Given the description of an element on the screen output the (x, y) to click on. 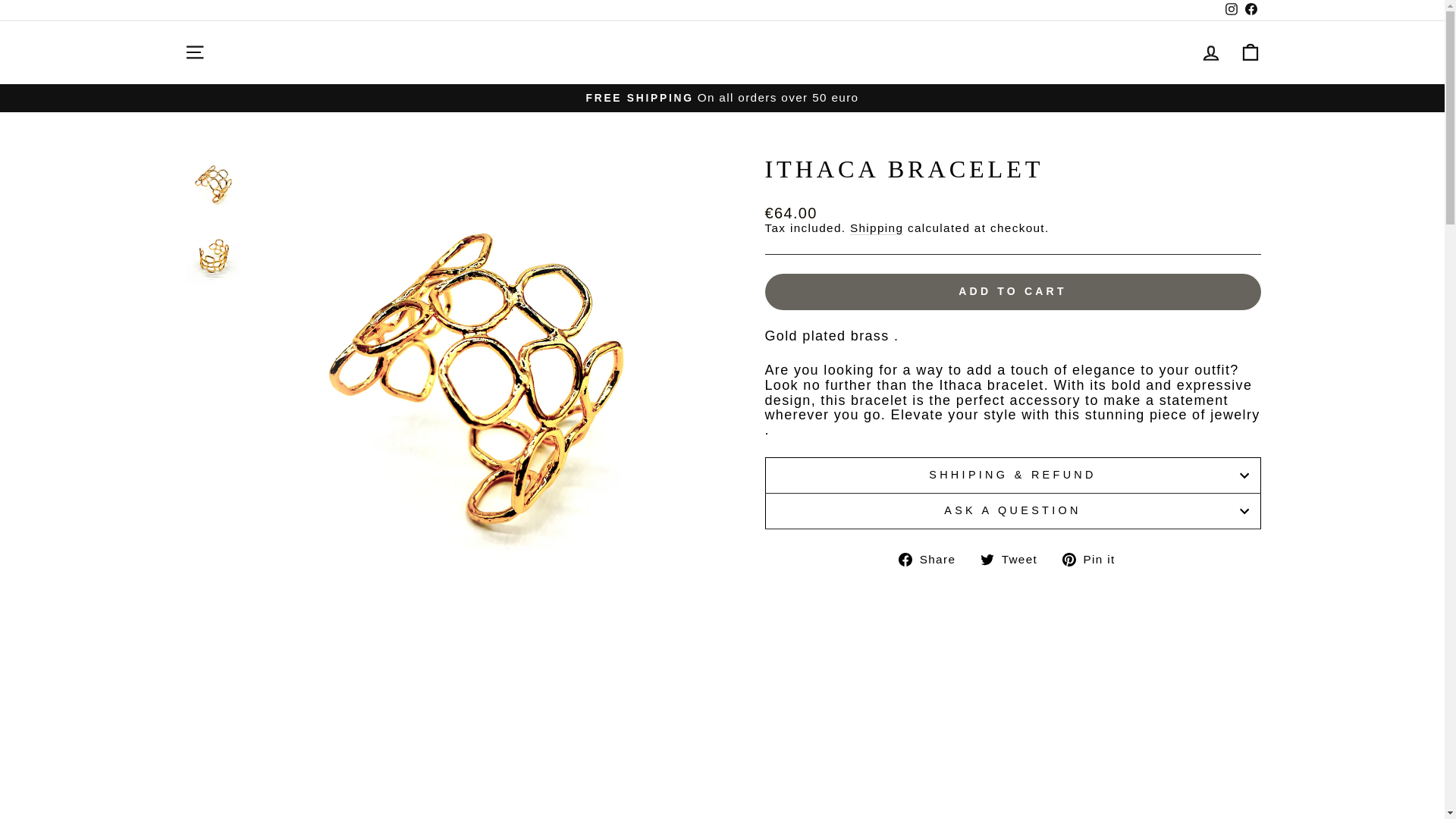
Pin on Pinterest (1093, 559)
twitter (986, 559)
ICON-BAG-MINIMAL (1249, 52)
ICON-HAMBURGER (194, 52)
ACCOUNT (1230, 10)
instagram (1210, 52)
Tweet on Twitter (1231, 9)
Sofia Lark  on Instagram (1013, 559)
Sofia Lark  on Facebook (1230, 10)
